Given the description of an element on the screen output the (x, y) to click on. 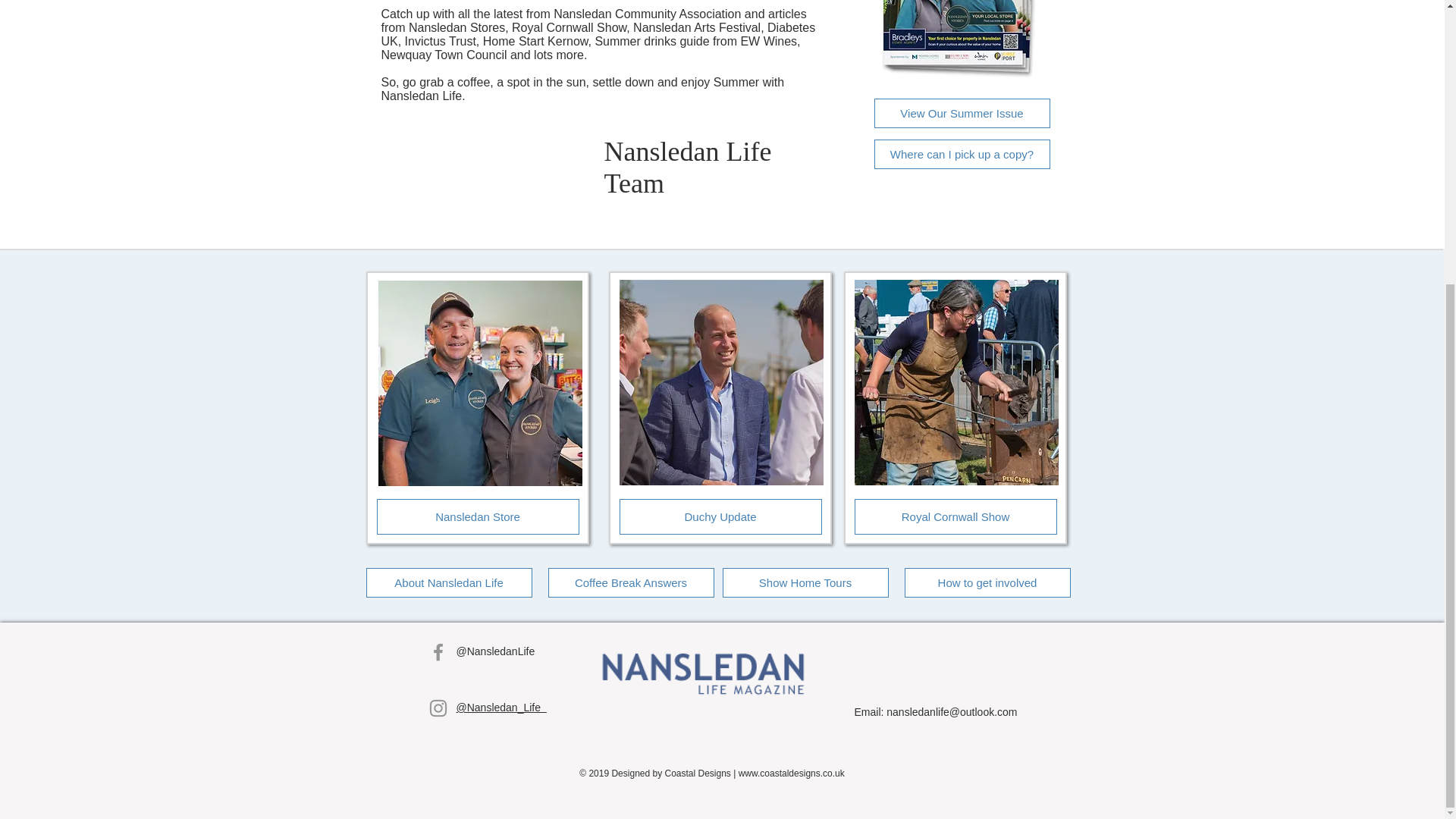
Coffee Break Answers (630, 582)
Royal Cornwall Show (955, 516)
Where can I pick up a copy? (961, 153)
How to get involved (987, 582)
Duchy Update (719, 516)
www.coastaldesigns.co.uk (791, 773)
About Nansledan Life (448, 582)
Show Home Tours (805, 582)
View Our Summer Issue (961, 112)
Nansledan Store (476, 516)
